Given the description of an element on the screen output the (x, y) to click on. 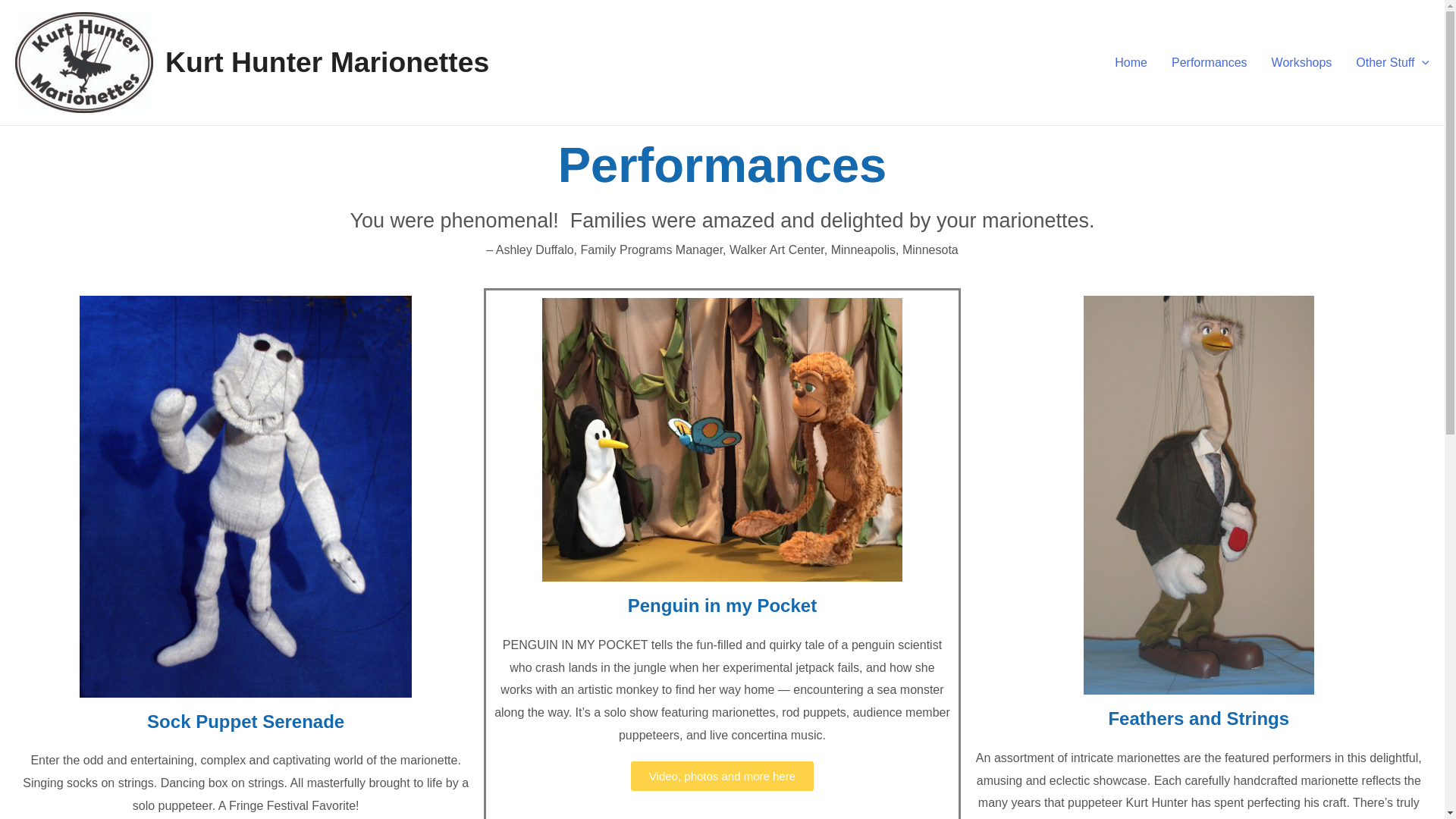
Kurt Hunter Marionettes (327, 61)
Performances (1208, 61)
Other Stuff (1386, 61)
Home (1130, 61)
Workshops (1301, 61)
